Given the description of an element on the screen output the (x, y) to click on. 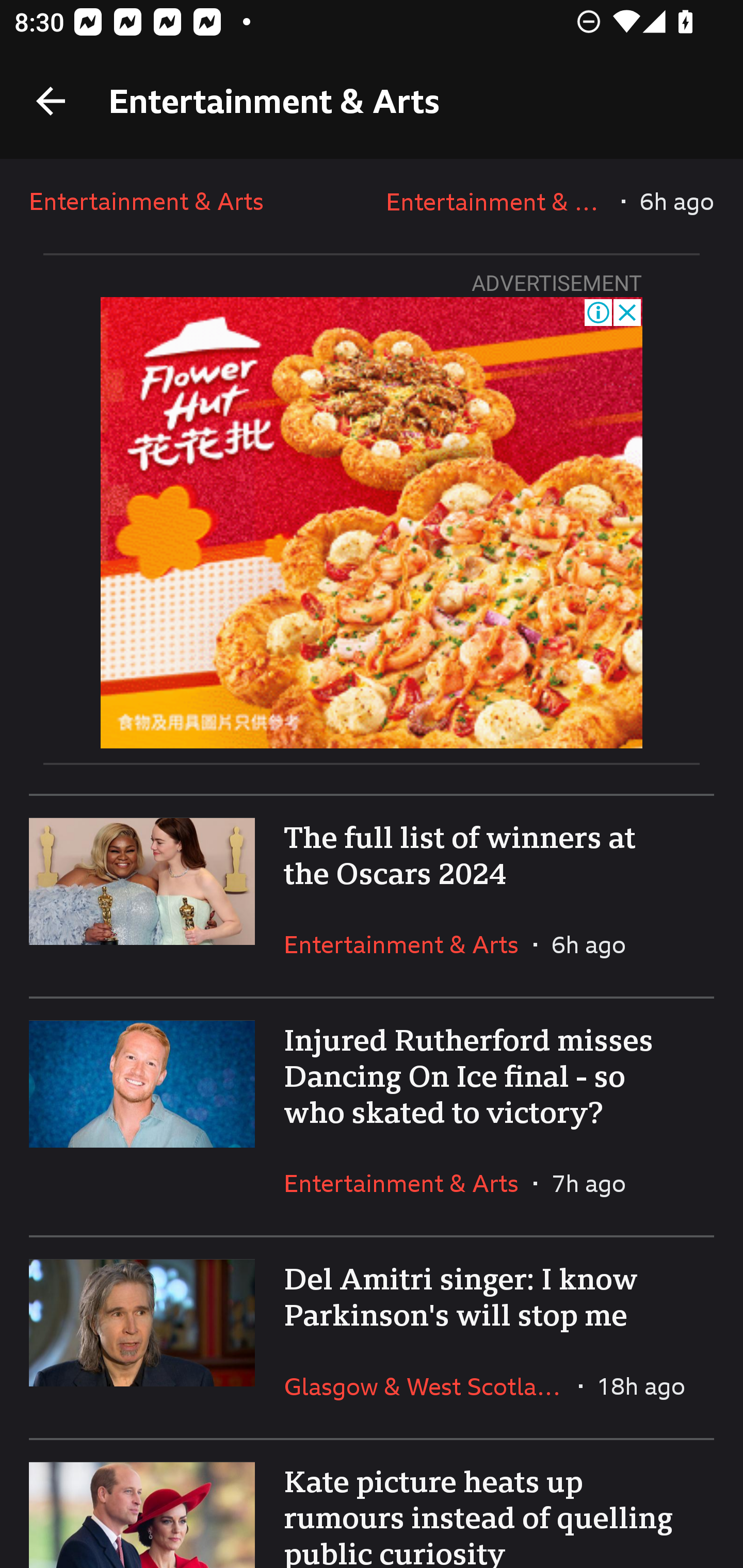
Back (50, 101)
